Given the description of an element on the screen output the (x, y) to click on. 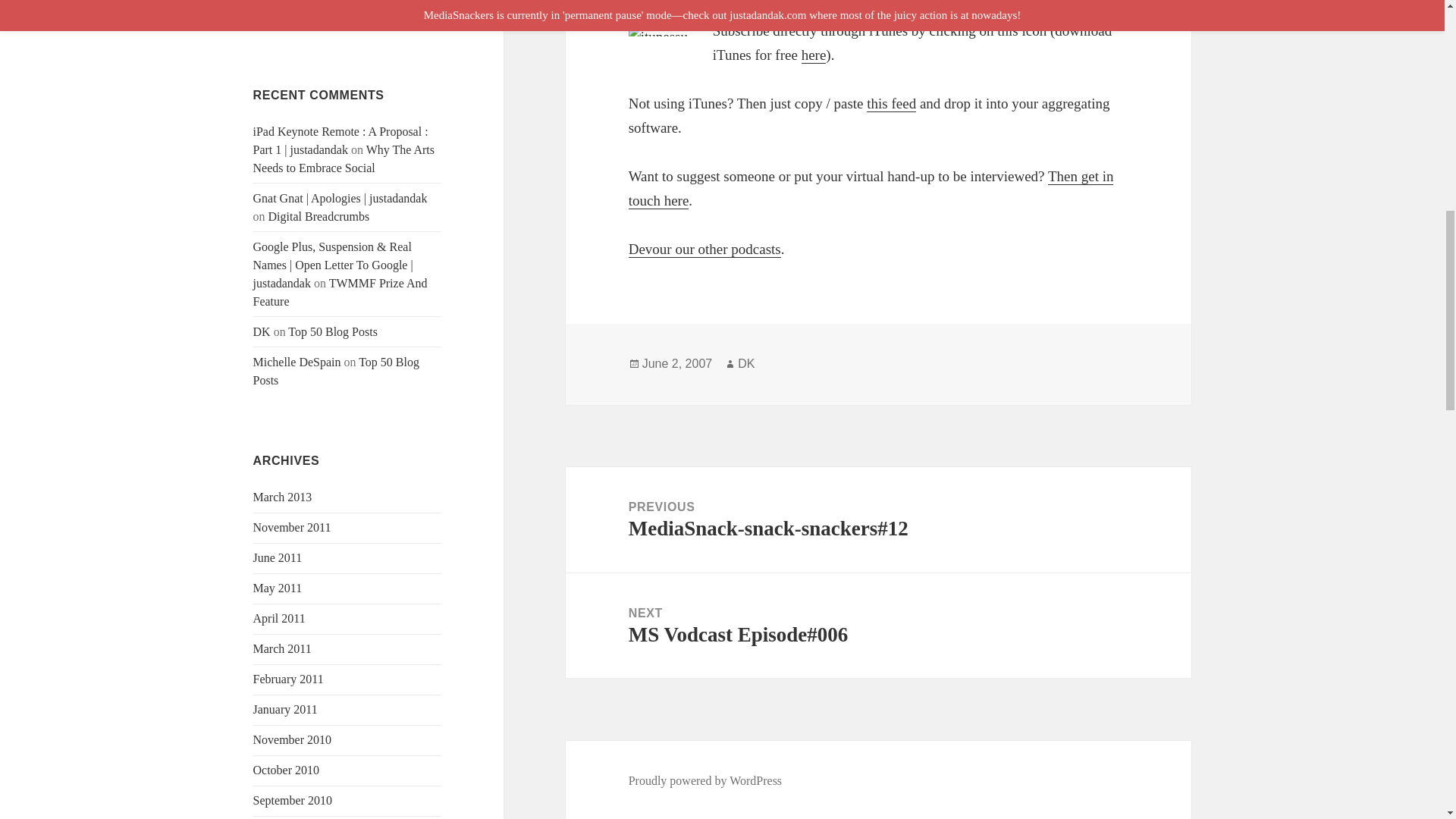
Why The Arts Needs to Embrace Social (343, 158)
DK (261, 331)
June 2011 (277, 557)
Top 50 Blog Posts (332, 331)
September 2010 (292, 799)
Top 50 Blog Posts (336, 370)
January 2011 (285, 708)
Digital Breadcrumbs (318, 215)
TWMMF Prize And Feature (340, 291)
May 2011 (277, 587)
